Given the description of an element on the screen output the (x, y) to click on. 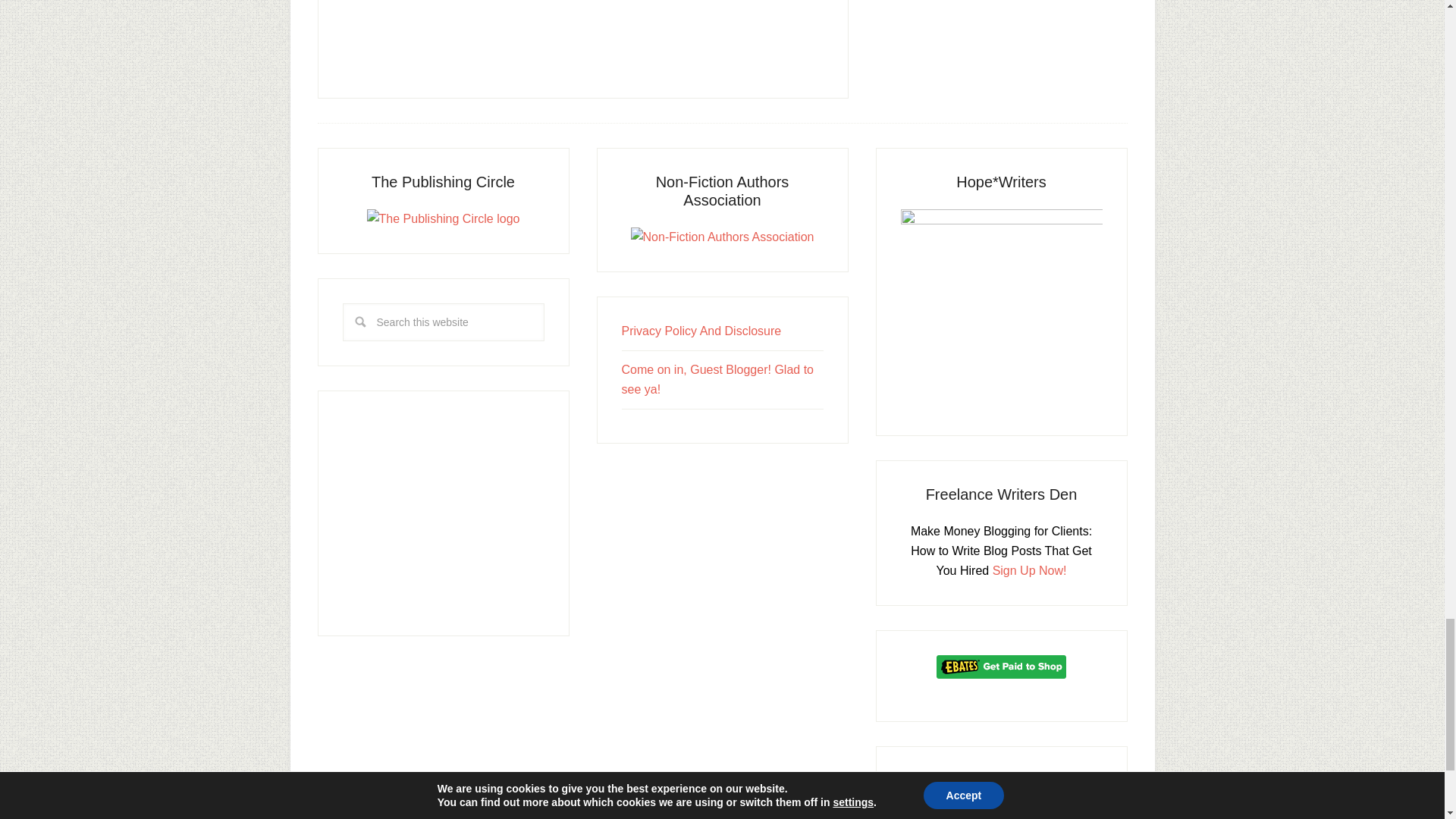
Contact (701, 330)
